Given the description of an element on the screen output the (x, y) to click on. 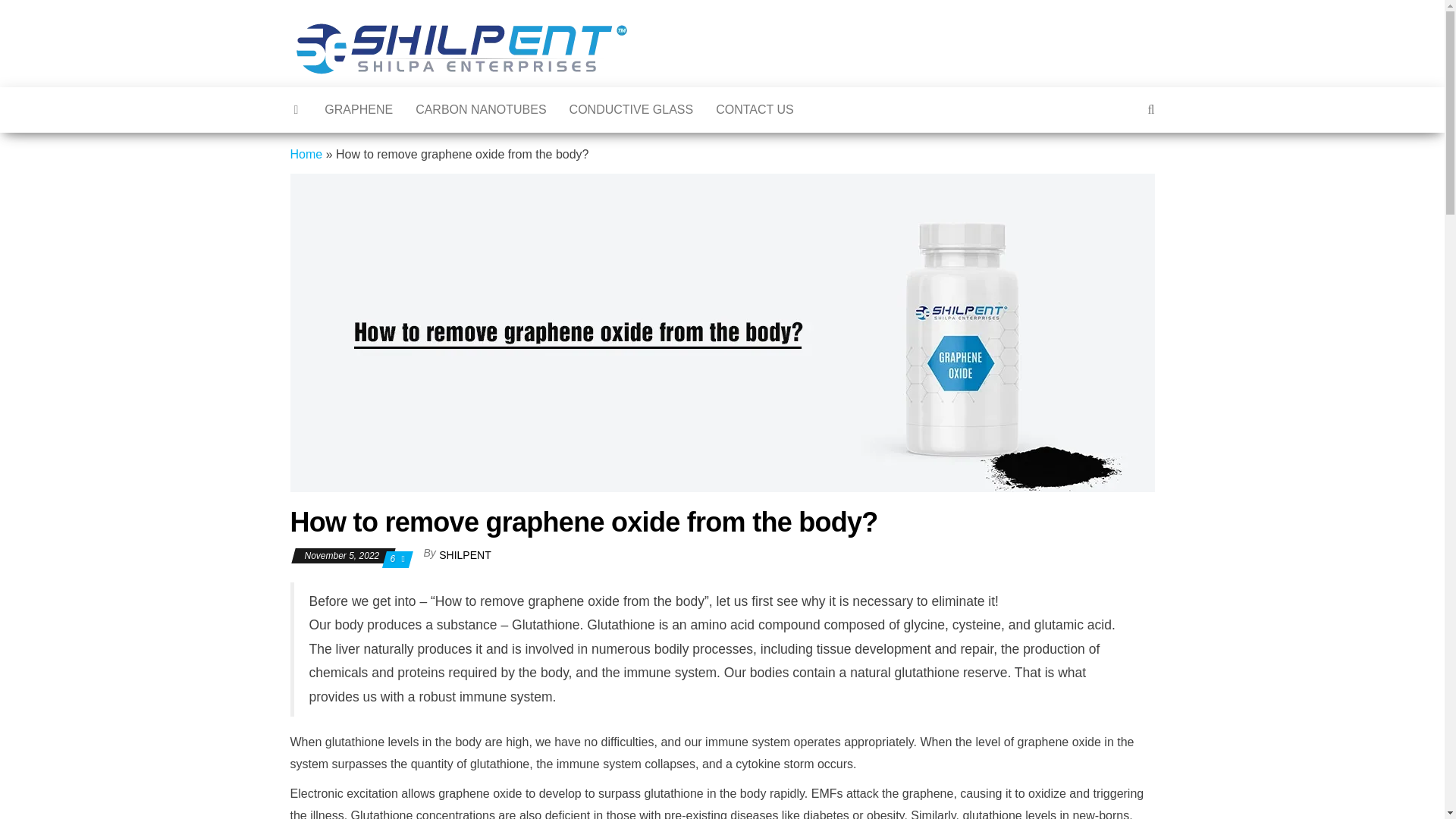
Carbon Nanotubes (480, 109)
Contact Us (754, 109)
Home (305, 154)
GRAPHENE (358, 109)
CONDUCTIVE GLASS (630, 109)
Graphene (358, 109)
SHILPENT (464, 554)
CARBON NANOTUBES (480, 109)
Conductive Glass (630, 109)
